Given the description of an element on the screen output the (x, y) to click on. 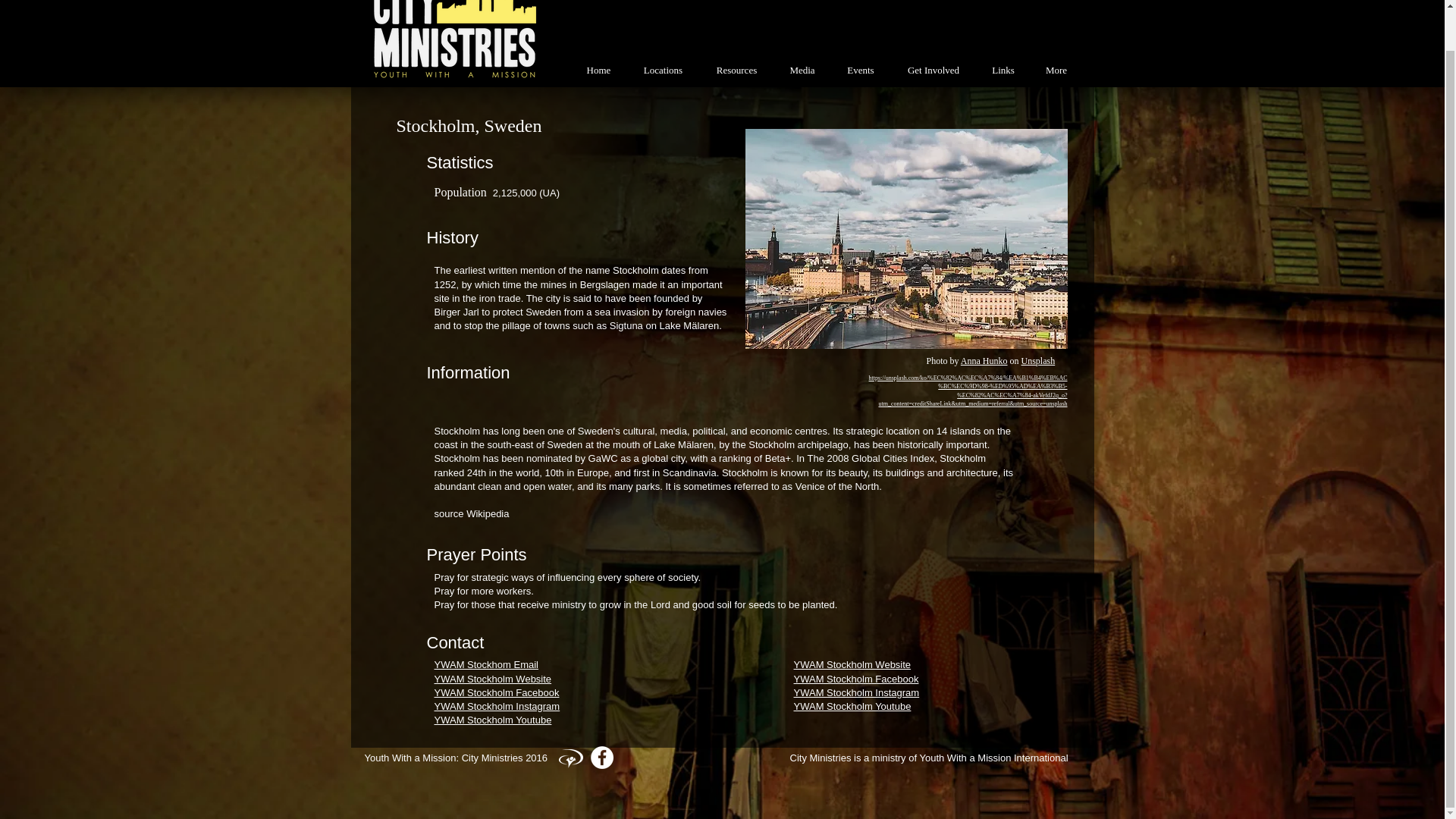
YWAM Stockholm Website (492, 678)
Stockholm (905, 238)
Home (598, 70)
YWAM Stockholm Instagram (855, 692)
YWAM Stockhom Email (485, 664)
Unsplash (1038, 360)
Events (861, 70)
YWAM Stockholm Facebook (496, 692)
YWAM Stockholm Website (852, 664)
source Wikipedia (470, 514)
YWAM Stockholm Facebook (855, 678)
Links (1003, 70)
YWAM (569, 758)
Resources (735, 70)
YWAM Stockholm Instagram (496, 706)
